Given the description of an element on the screen output the (x, y) to click on. 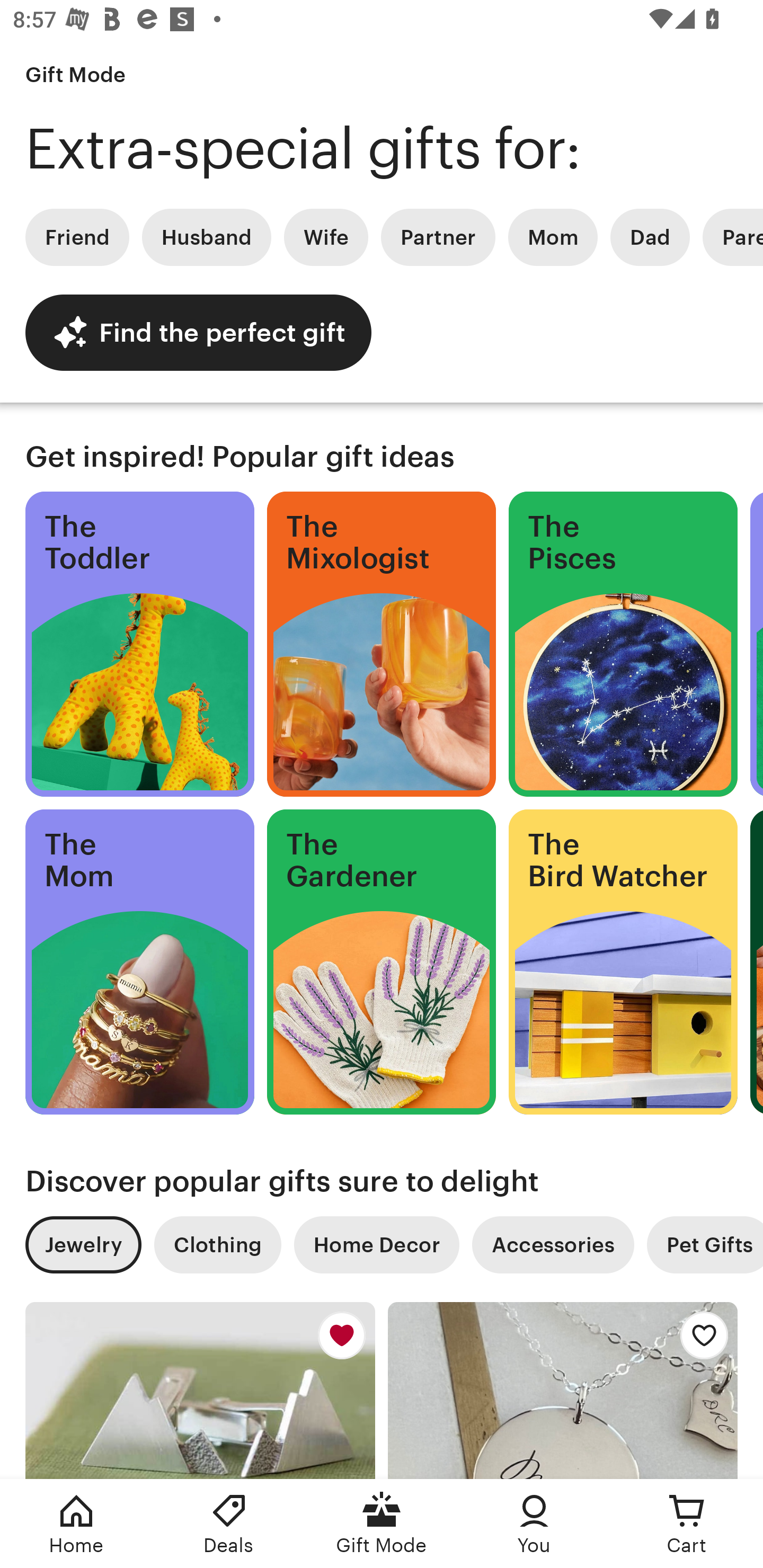
Friend (76, 237)
Husband (206, 237)
Wife (325, 237)
Partner (437, 237)
Mom (552, 237)
Dad (649, 237)
Find the perfect gift (198, 332)
The Toddler (139, 644)
The Mixologist (381, 644)
The Pisces (622, 644)
The Mom (139, 961)
The Gardener (381, 961)
The Bird Watcher (622, 961)
Jewelry (83, 1244)
Clothing (217, 1244)
Home Decor (376, 1244)
Accessories (553, 1244)
Pet Gifts (705, 1244)
Home (76, 1523)
Deals (228, 1523)
You (533, 1523)
Cart (686, 1523)
